Given the description of an element on the screen output the (x, y) to click on. 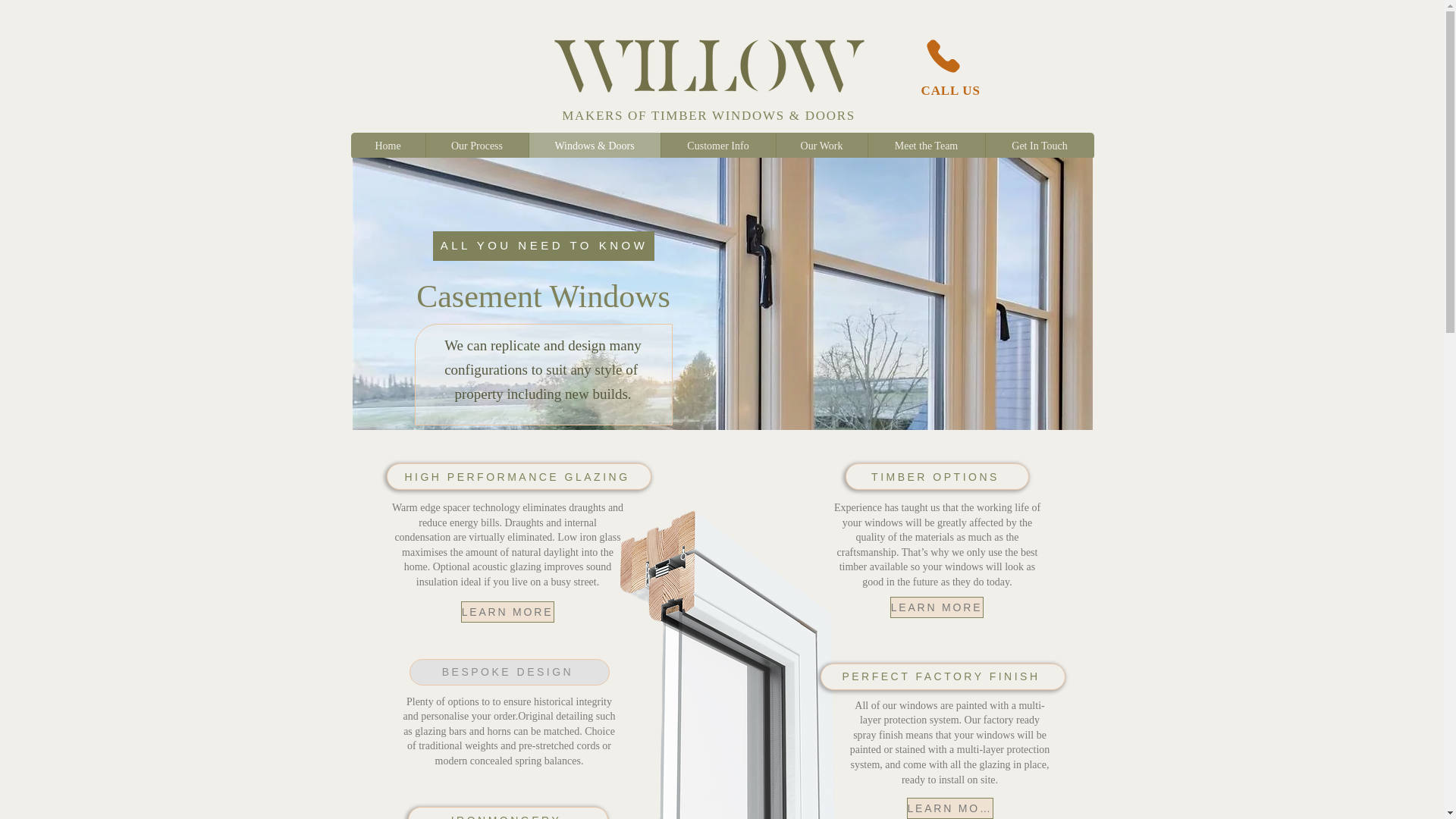
Our Process (476, 145)
TIMBER OPTIONS (935, 476)
Home (387, 145)
Customer Info (716, 145)
LEARN MORE (949, 808)
Get In Touch (1038, 145)
LEARN MORE (507, 611)
IRONMONGERY (507, 812)
BESPOKE DESIGN (509, 672)
Meet the Team (926, 145)
PERFECT FACTORY FINISH (943, 676)
HIGH PERFORMANCE GLAZING (518, 476)
LEARN MORE (936, 607)
Our Work (820, 145)
